Given the description of an element on the screen output the (x, y) to click on. 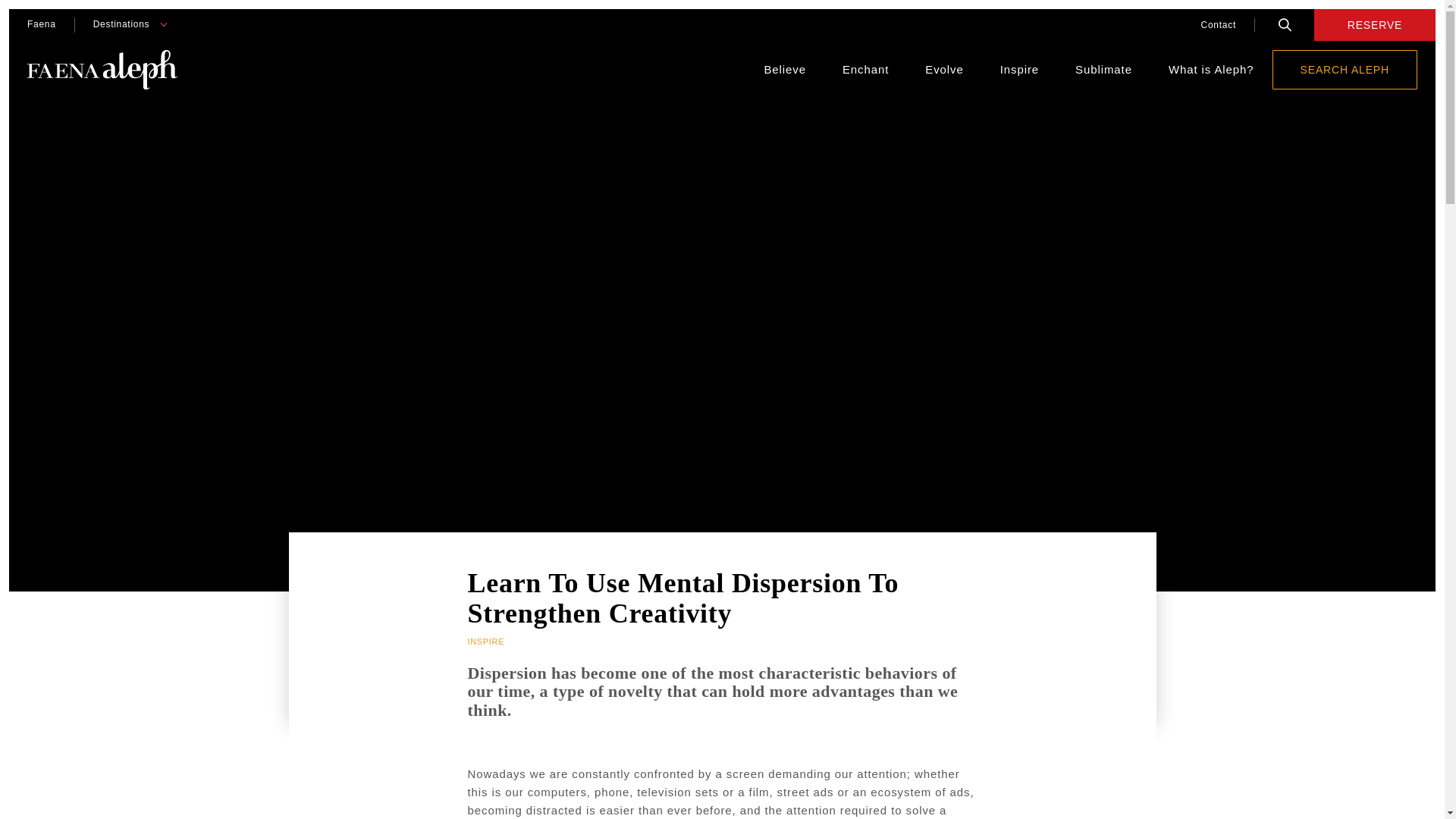
What is Aleph? (1211, 69)
Destinations (121, 23)
Enchant (865, 69)
Search (1284, 24)
Evolve (943, 69)
Inspire (1019, 69)
Faena (41, 23)
SEARCH ALEPH (1344, 69)
Contact (1217, 24)
Believe (784, 69)
Sublimate (1103, 69)
